Given the description of an element on the screen output the (x, y) to click on. 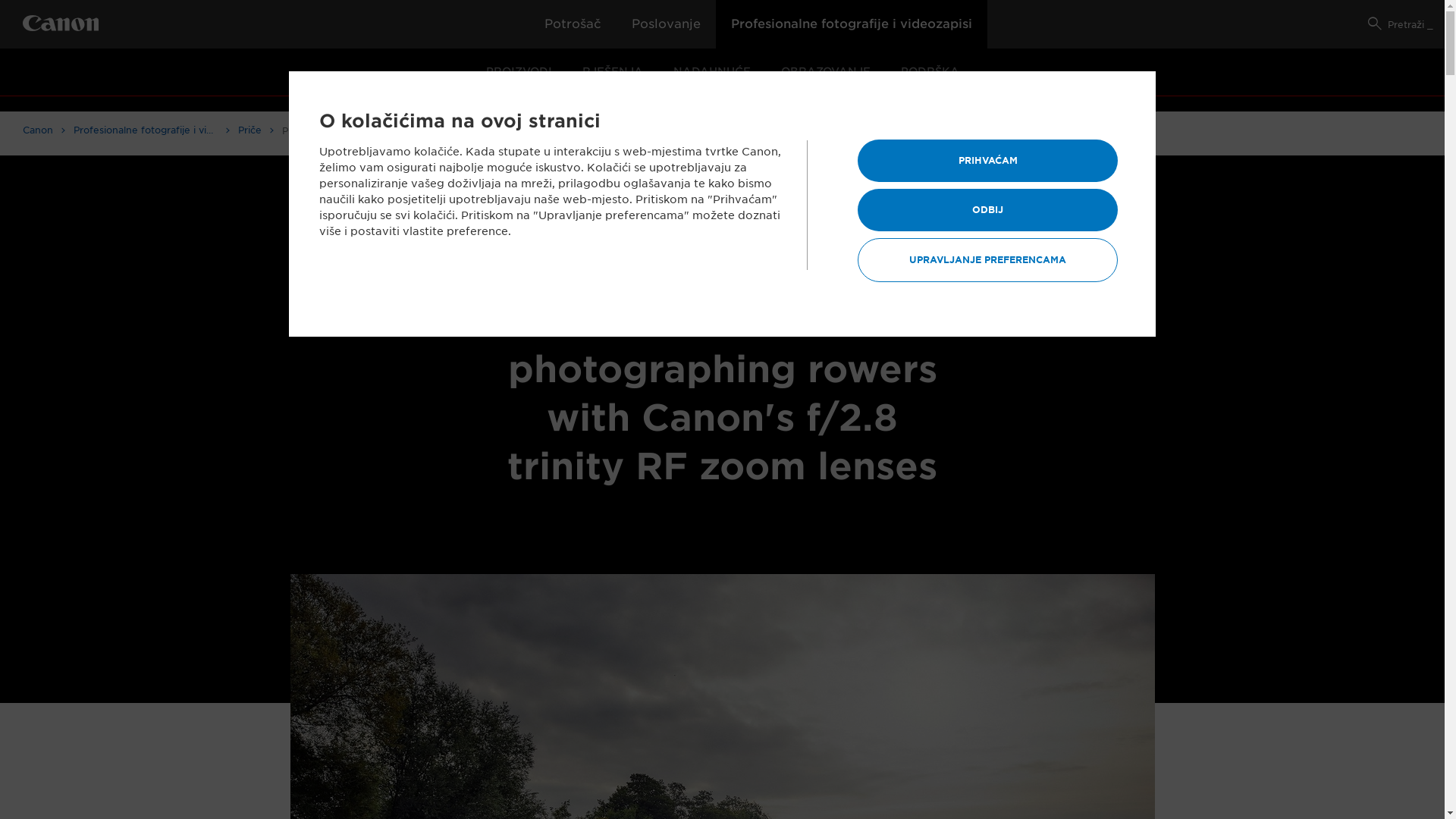
UPRAVLJANJE PREFERENCAMA Element type: text (987, 260)
Profesionalne fotografije i videozapisi Element type: text (851, 24)
OBRAZOVANJE Element type: text (825, 72)
Poslovanje Element type: text (665, 24)
ODBIJ Element type: text (987, 209)
Profesionalne fotografije i videozapisi Element type: text (151, 130)
Canon Element type: text (43, 130)
PROIZVODI Element type: text (518, 72)
Canon Logo Element type: text (60, 26)
